Given the description of an element on the screen output the (x, y) to click on. 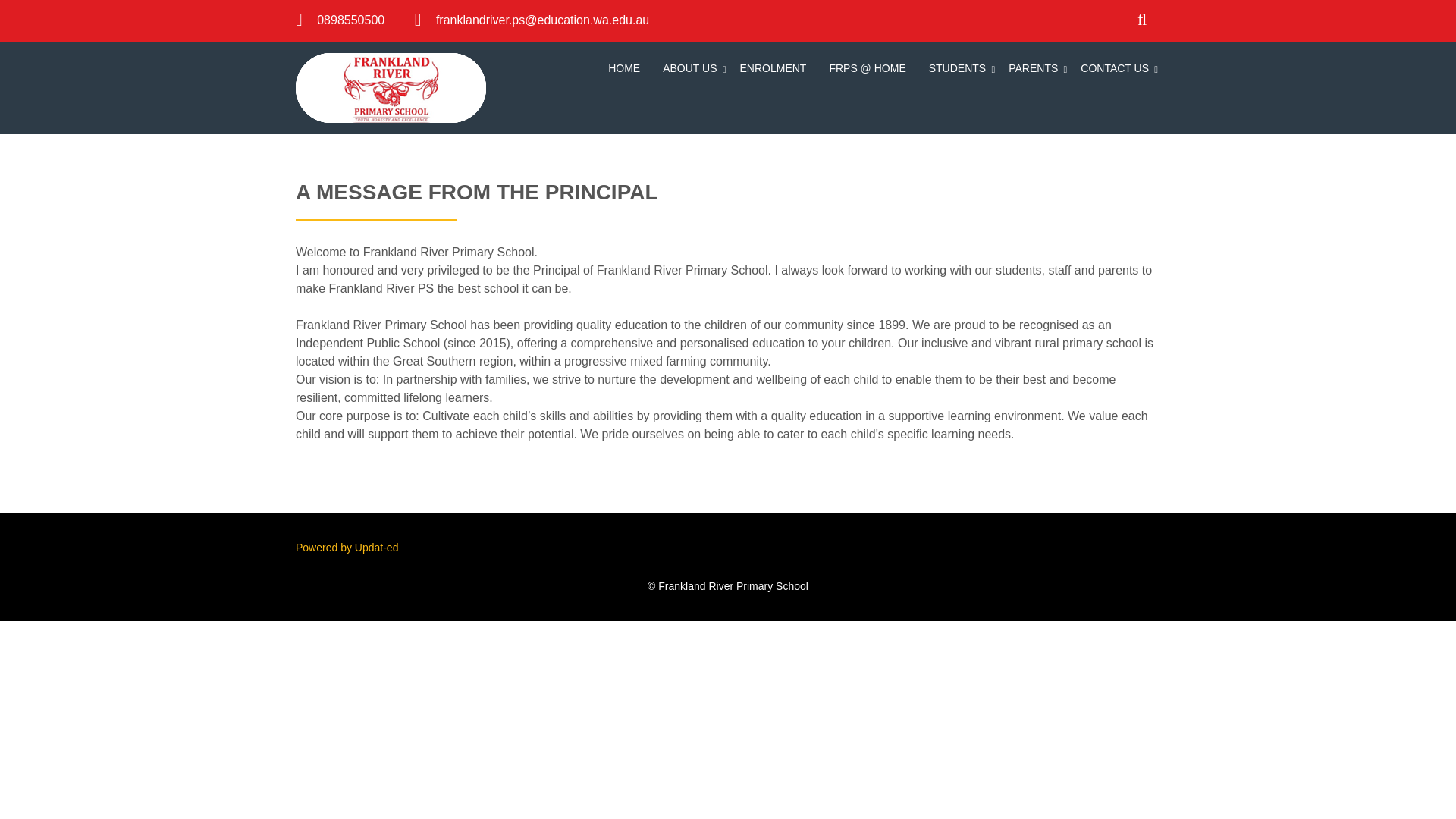
PARENTS (1032, 70)
ABOUT US (689, 70)
Powered by Updat-ed (346, 547)
CONTACT US (1114, 70)
HOME (623, 70)
0898550500 (350, 19)
STUDENTS (957, 70)
ENROLMENT (772, 70)
